Given the description of an element on the screen output the (x, y) to click on. 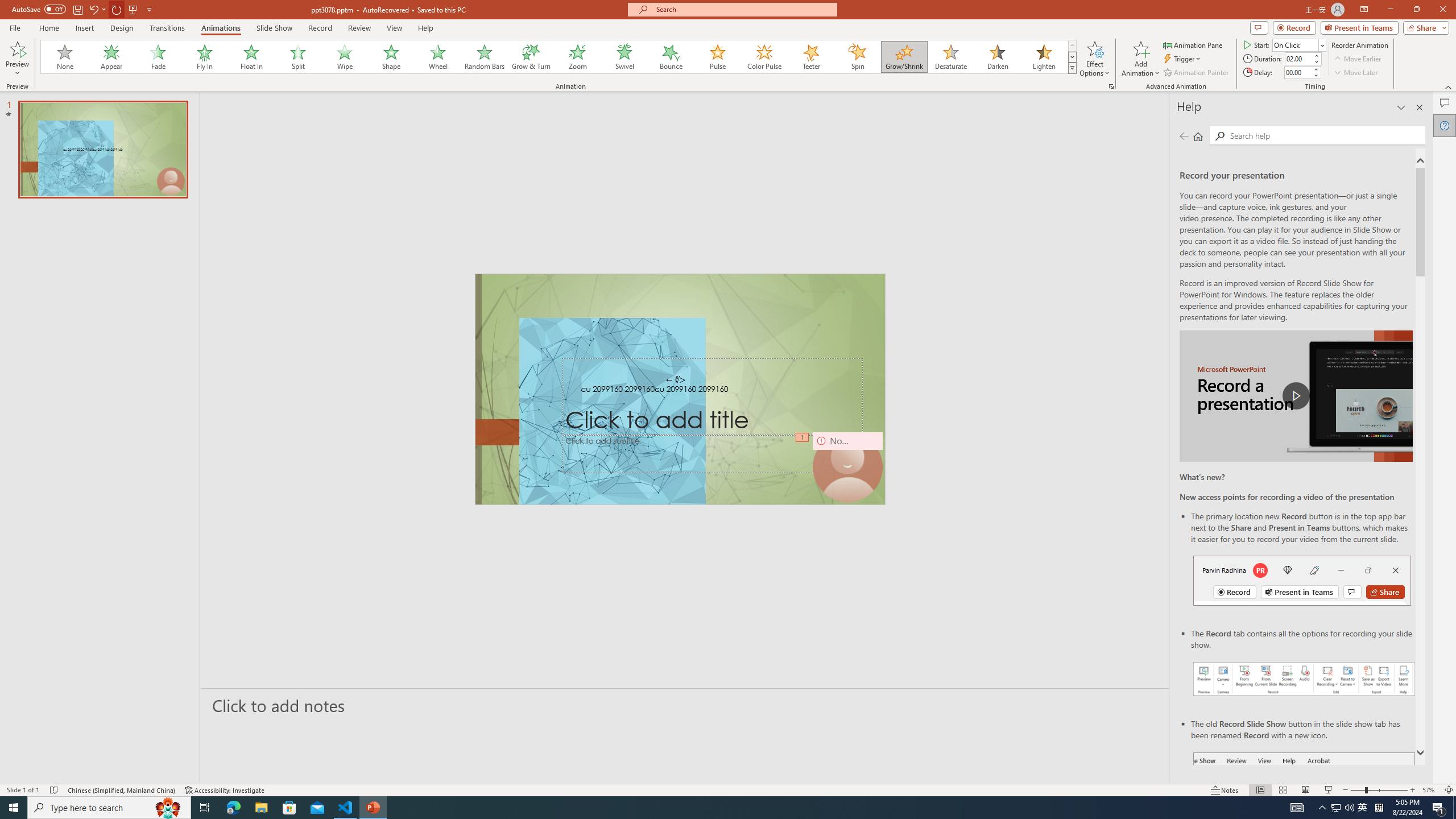
Fly In (205, 56)
Animation Painter (1196, 72)
